Given the description of an element on the screen output the (x, y) to click on. 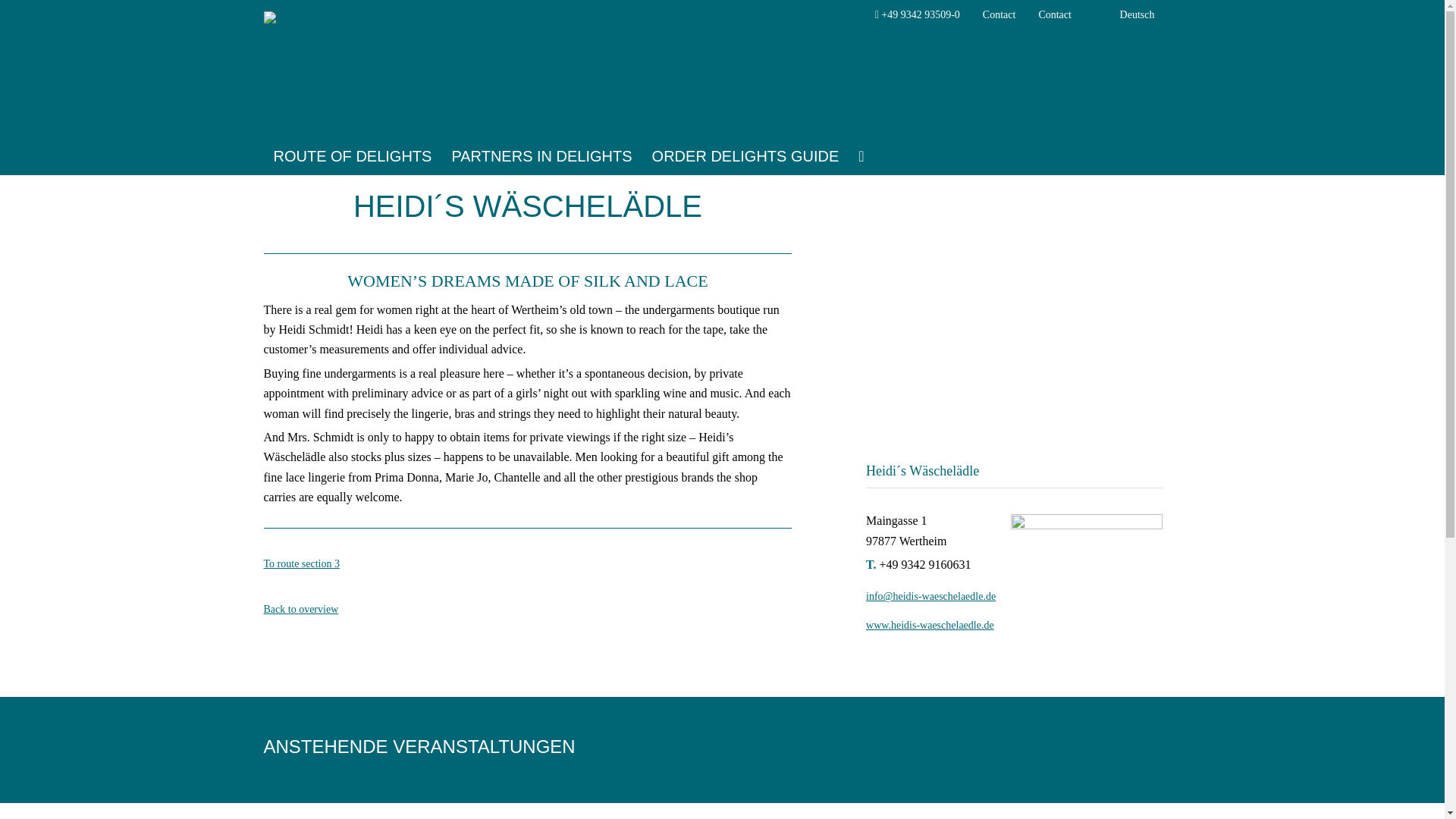
ROUTE OF DELIGHTS (352, 140)
Back to overview (320, 608)
To route section 3 (320, 563)
Previous (877, 286)
Contact (1054, 14)
ORDER DELIGHTS GUIDE (745, 140)
PARTNERS IN DELIGHTS (541, 140)
Next (1149, 286)
3 (1025, 393)
2 (1014, 393)
Deutsch (1124, 14)
Contact (999, 14)
1 (1001, 393)
www.heidis-waeschelaedle.de (949, 625)
Deutsch (1124, 14)
